Given the description of an element on the screen output the (x, y) to click on. 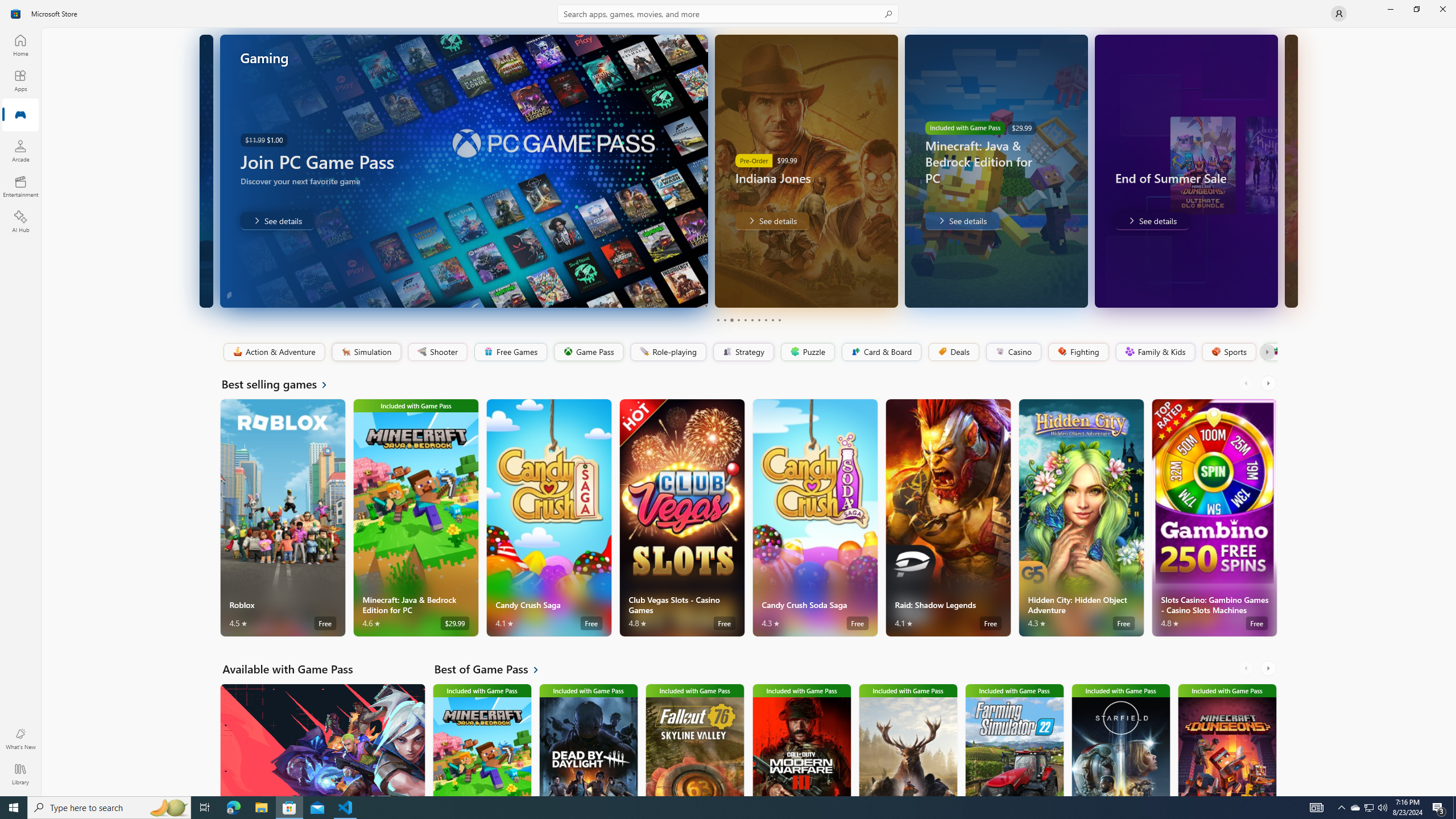
Page 9 (772, 319)
Page 1 (717, 319)
Page 4 (738, 319)
Search (727, 13)
Role-playing (668, 352)
Pager (748, 319)
Page 5 (744, 319)
Roblox. Average rating of 4.5 out of five stars. Free   (282, 517)
Game Pass (588, 352)
